Given the description of an element on the screen output the (x, y) to click on. 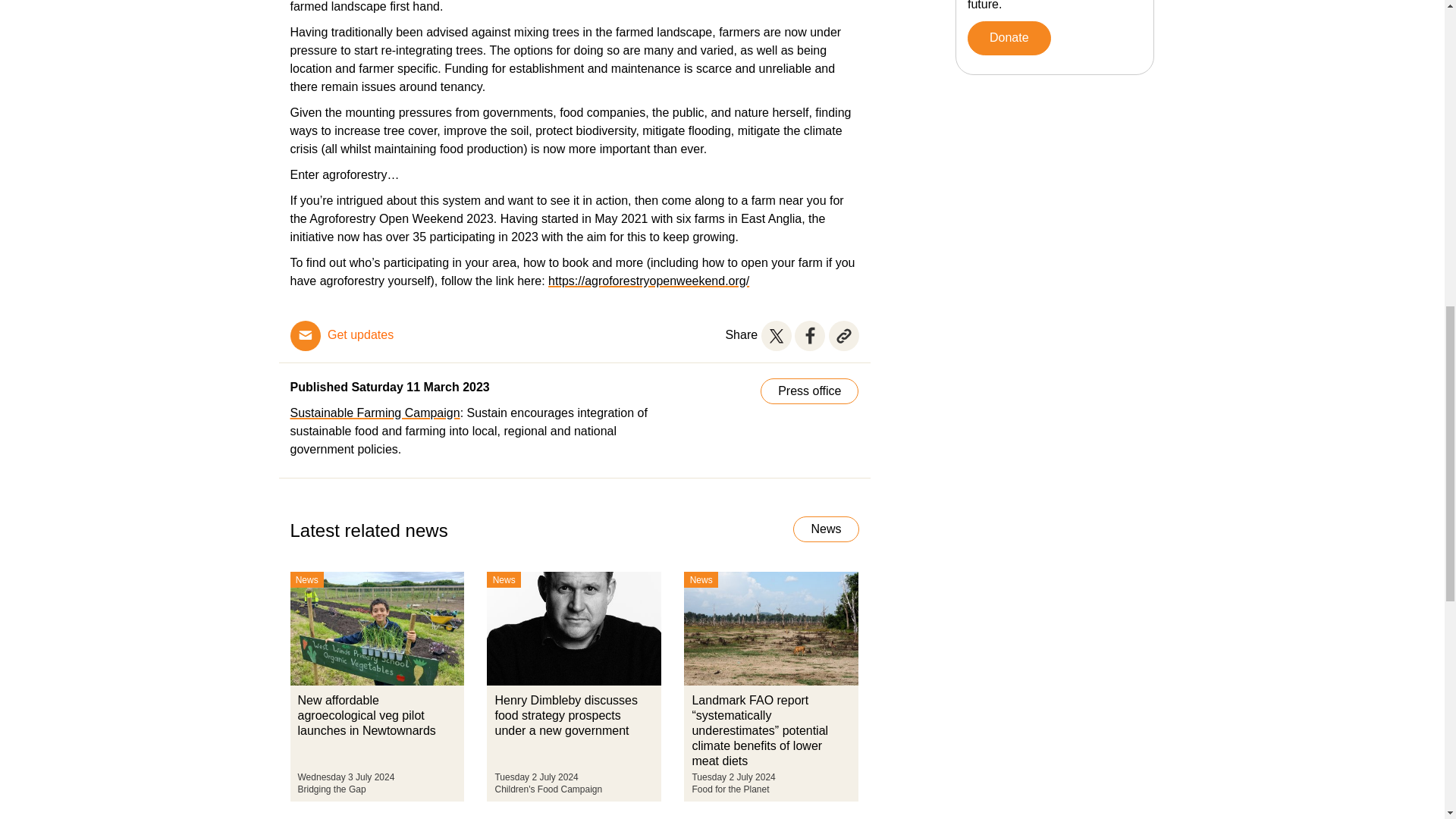
Twitter (776, 336)
Share link (843, 336)
Get updates (360, 334)
Henry Dimbleby credit Sam Robinson. Credit: Sam Robinson (573, 628)
Facebook (809, 336)
News (826, 529)
Press office (809, 391)
Sustainable Farming Campaign (374, 412)
